Given the description of an element on the screen output the (x, y) to click on. 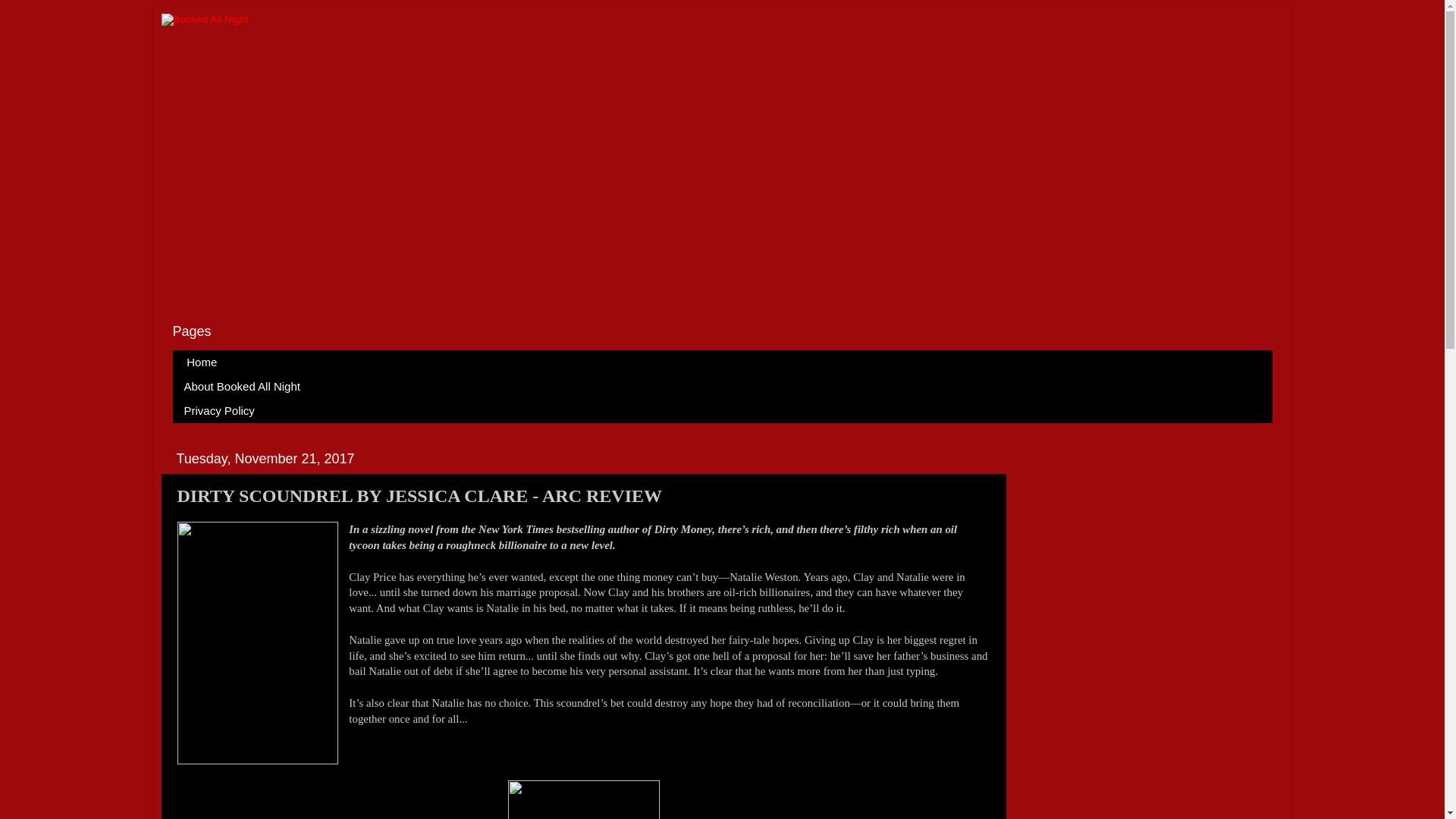
Home (201, 362)
Privacy Policy (219, 410)
About Booked All Night (243, 386)
